Given the description of an element on the screen output the (x, y) to click on. 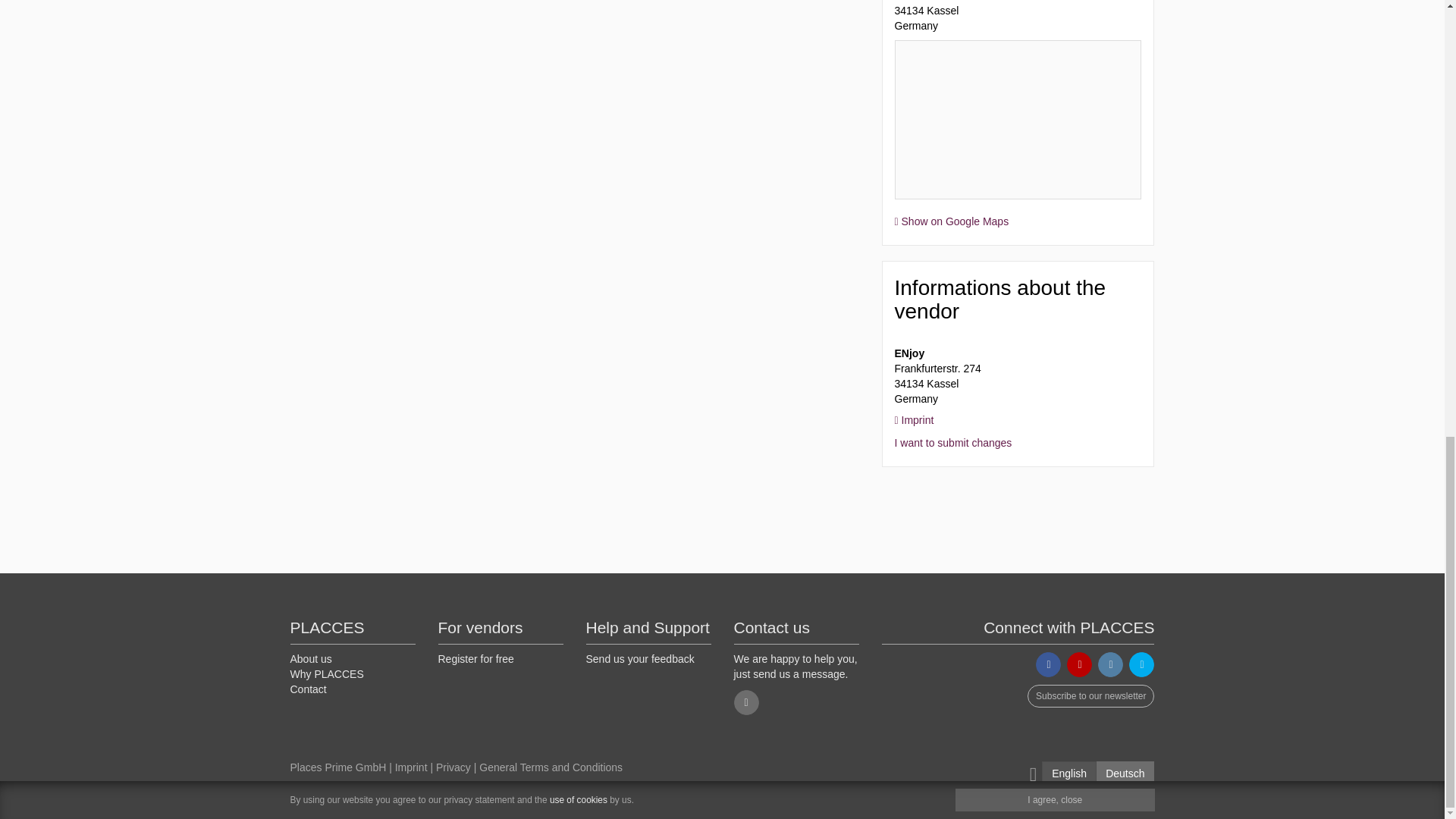
Visit PLACCES on Youtube (1079, 664)
Visit PLACCES on Facebook (1048, 664)
Visit PLACCES on Twitter (1141, 664)
Visit PLACCES on Instagram (1109, 664)
Show on Google Maps (952, 221)
About us (310, 658)
I want to submit changes (953, 442)
Imprint (914, 419)
Send an e-mail to PLACCES (745, 702)
